Given the description of an element on the screen output the (x, y) to click on. 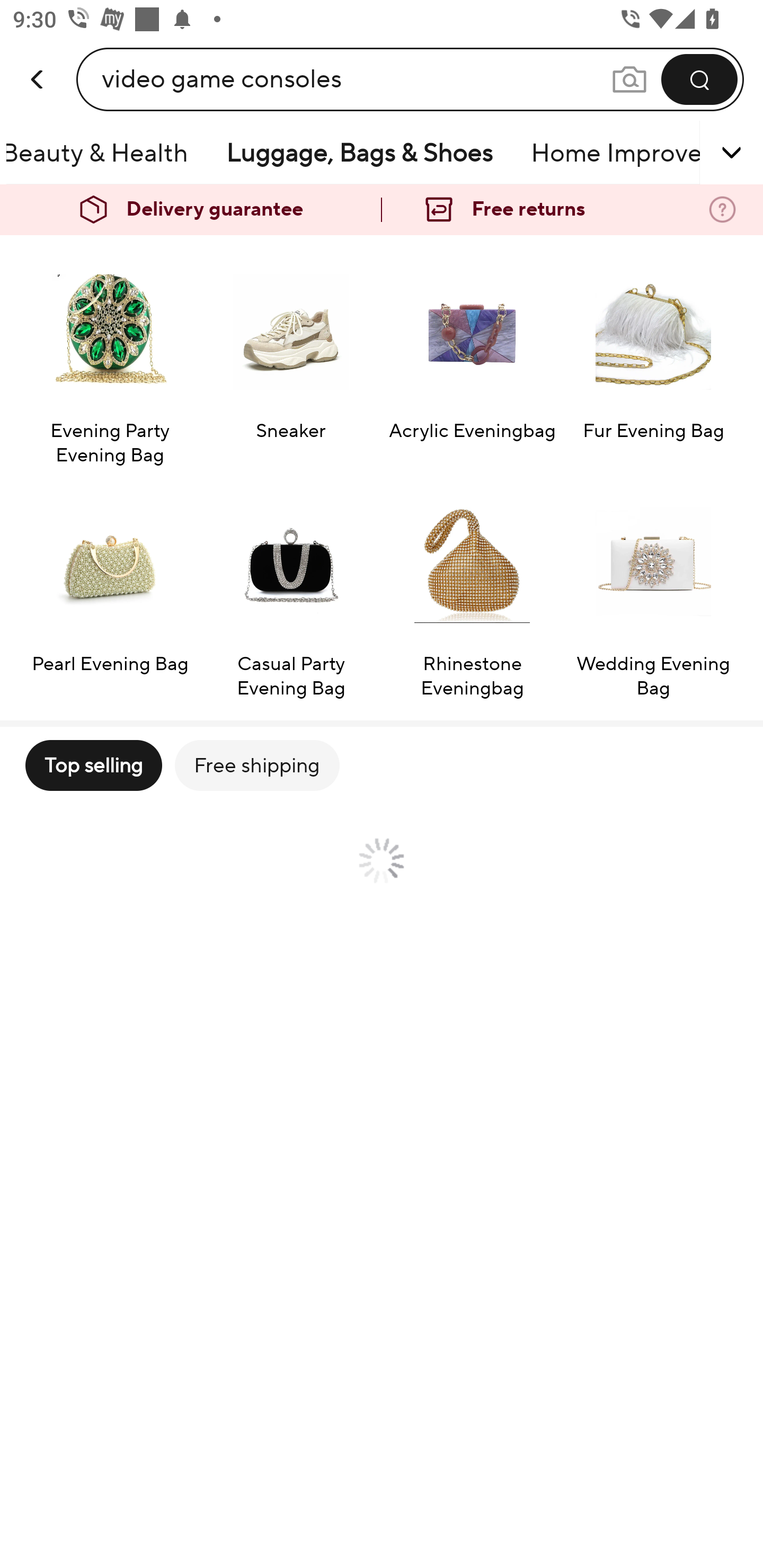
back  (38, 59)
video game consoles Search query (355, 79)
Beauty & Health (106, 152)
Home Improvement & Lighting (611, 152)
 (705, 152)
Delivery guarantee Free returns (381, 210)
Evening Party Evening Bag (109, 357)
Sneaker (290, 357)
Acrylic Eveningbag (471, 357)
Fur Evening Bag (653, 357)
Pearl Evening Bag (109, 590)
Casual Party Evening Bag (290, 590)
Rhinestone Eveningbag (471, 590)
Wedding Evening Bag (653, 590)
Top selling (93, 765)
Free shipping (256, 765)
